Given the description of an element on the screen output the (x, y) to click on. 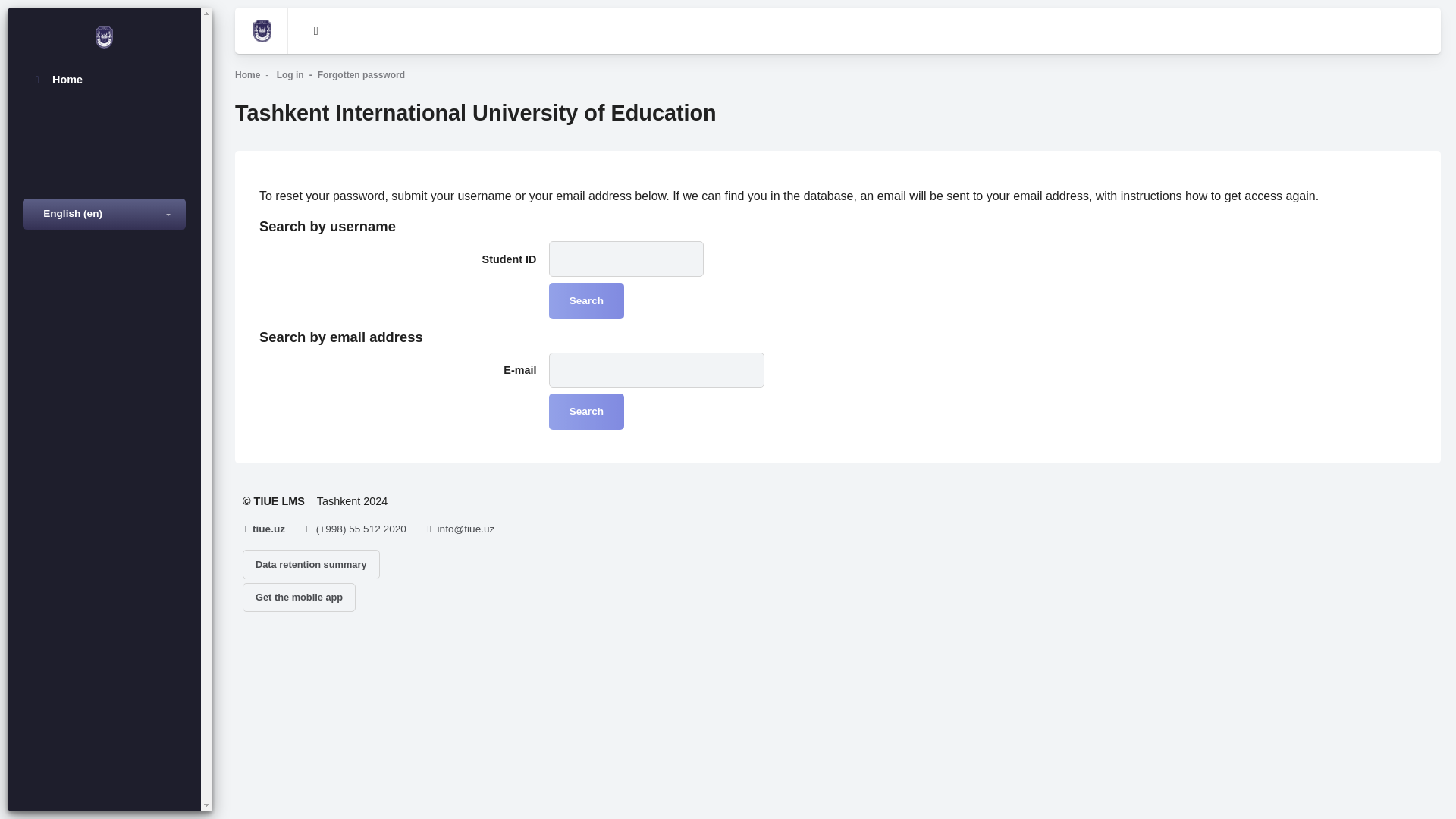
Search (586, 300)
Home (104, 80)
tiue.uz (268, 528)
Search (586, 411)
Log in (290, 74)
Search (586, 300)
Search (586, 411)
Home (247, 74)
